Given the description of an element on the screen output the (x, y) to click on. 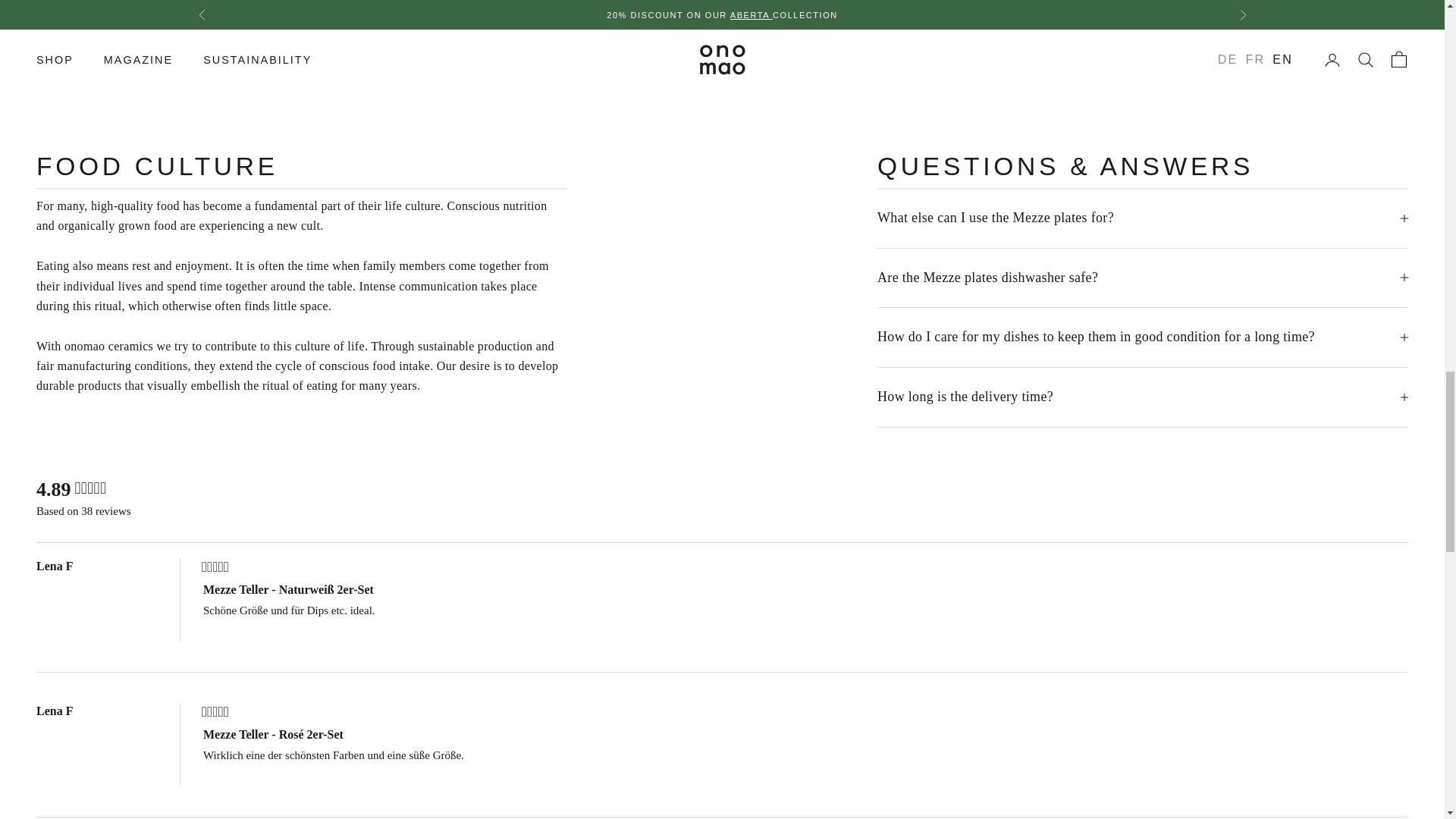
5 Stars (215, 712)
5 Stars (215, 567)
4.89 Stars (90, 489)
